Given the description of an element on the screen output the (x, y) to click on. 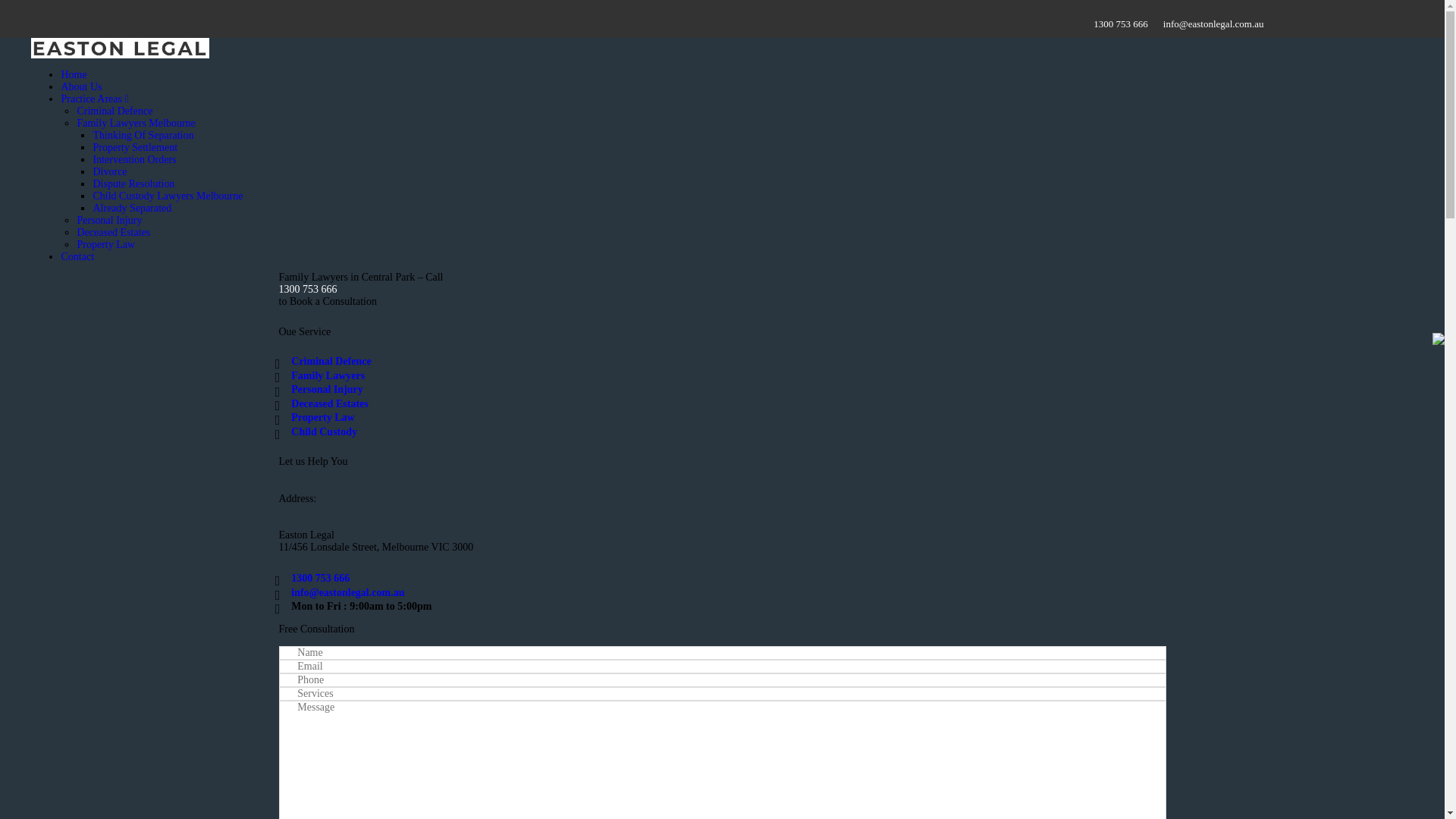
Deceased Estates Element type: text (113, 232)
Personal Injury Element type: text (327, 389)
info@eastonlegal.com.au Element type: text (347, 592)
Property Settlement Element type: text (134, 147)
Dispute Resolution Element type: text (133, 183)
Child Custody Lawyers Melbourne Element type: text (167, 195)
Intervention Orders Element type: text (133, 159)
About Us Element type: text (80, 86)
Thinking Of Separation Element type: text (142, 135)
Already Separated Element type: text (131, 207)
Criminal Defence Element type: text (330, 361)
1300 753 666 Element type: text (320, 577)
Divorce Element type: text (109, 171)
Criminal Defence Element type: text (114, 110)
Deceased Estates Element type: text (329, 403)
Family Lawyers Element type: text (327, 375)
1300 753 666 Element type: text (722, 289)
Property Law Element type: text (105, 244)
Contact Element type: text (77, 256)
Property Law Element type: text (322, 417)
Family Lawyers Melbourne Element type: text (135, 122)
Home Element type: text (73, 74)
info@eastonlegal.com.au Element type: text (1213, 23)
Personal Injury Element type: text (108, 219)
Child Custody Element type: text (324, 431)
1300 753 666 Element type: text (1120, 23)
